Given the description of an element on the screen output the (x, y) to click on. 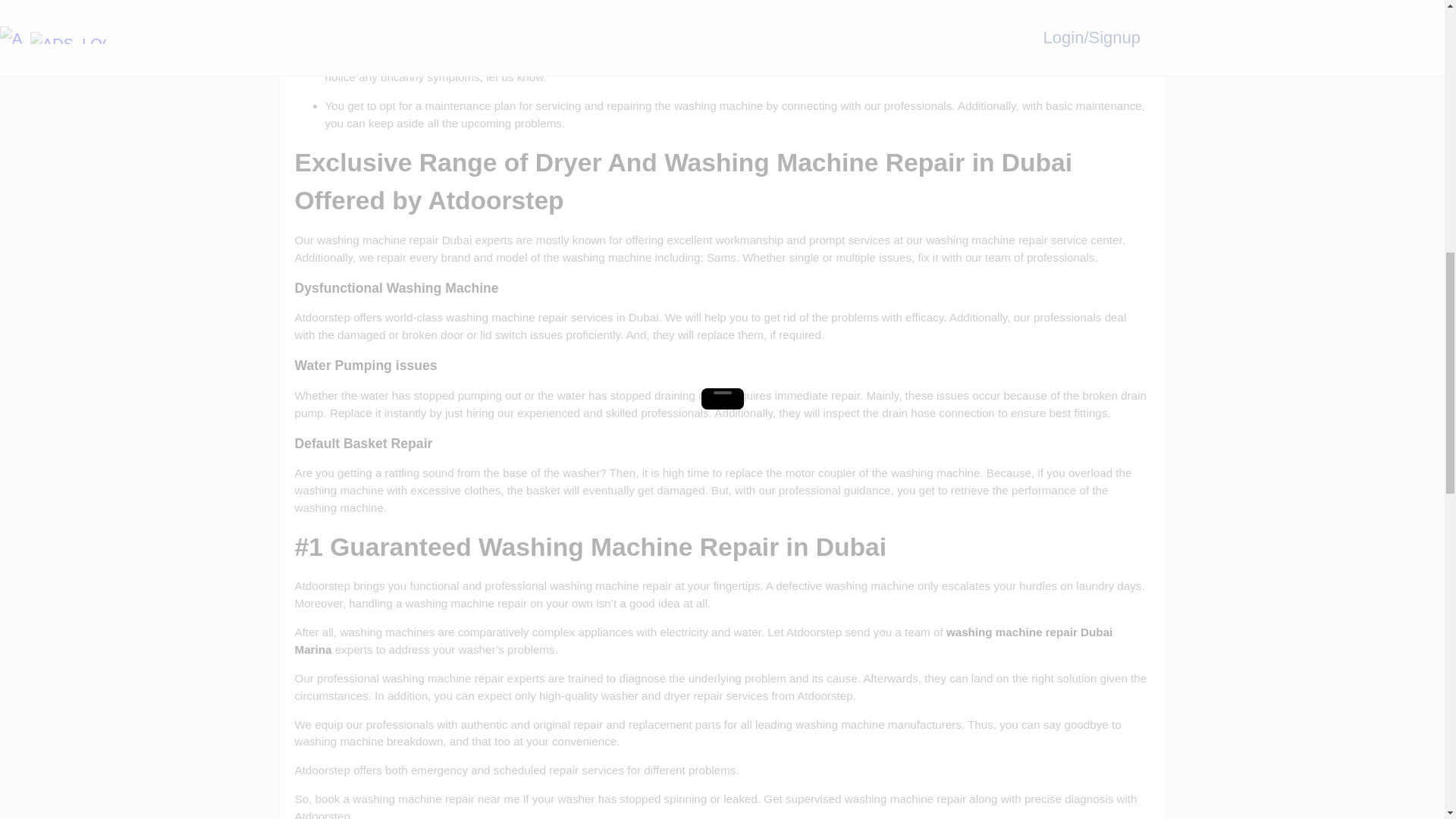
electrical issues (771, 13)
